Given the description of an element on the screen output the (x, y) to click on. 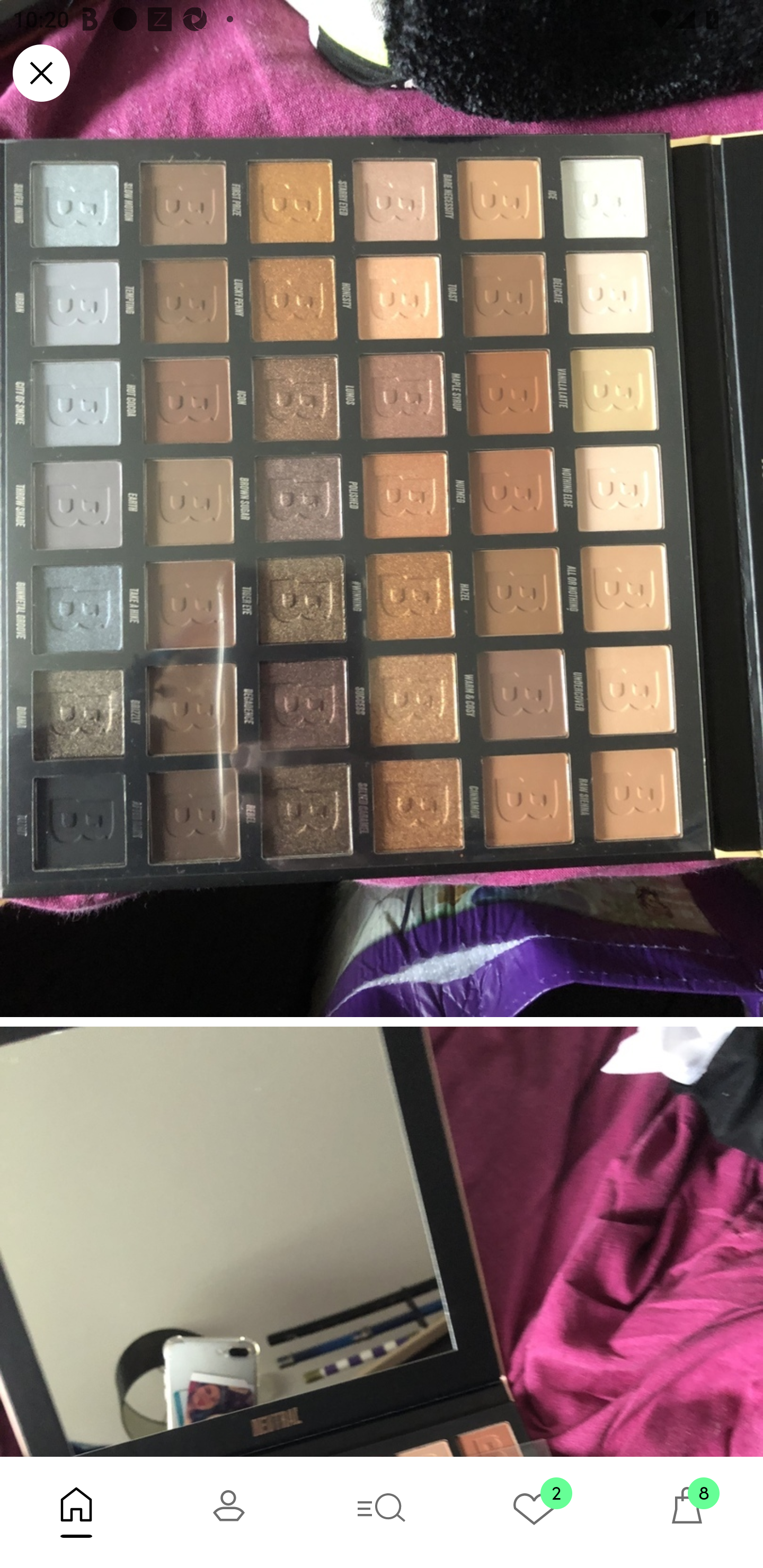
2 (533, 1512)
8 (686, 1512)
